Given the description of an element on the screen output the (x, y) to click on. 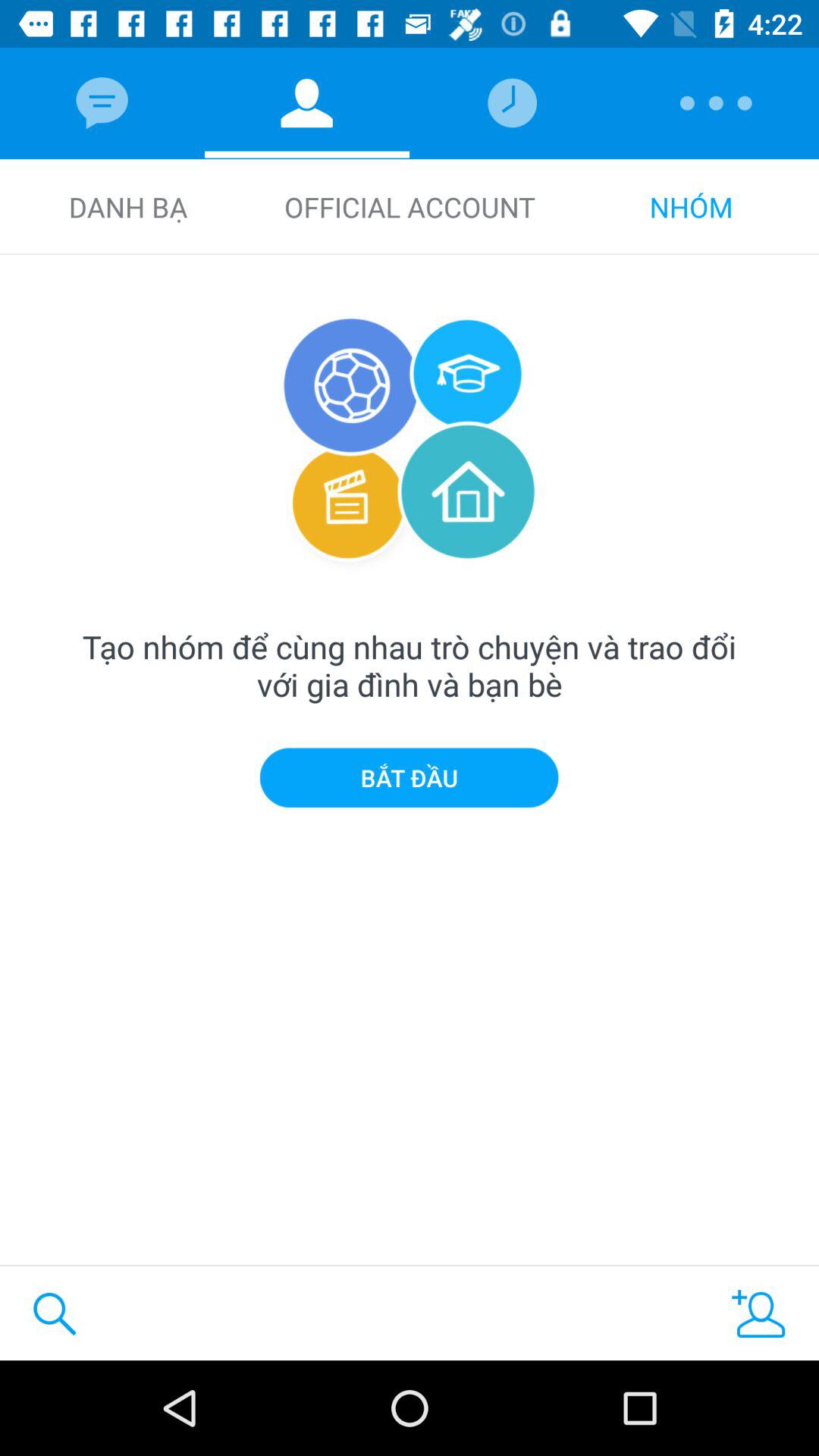
click official account (409, 206)
